Given the description of an element on the screen output the (x, y) to click on. 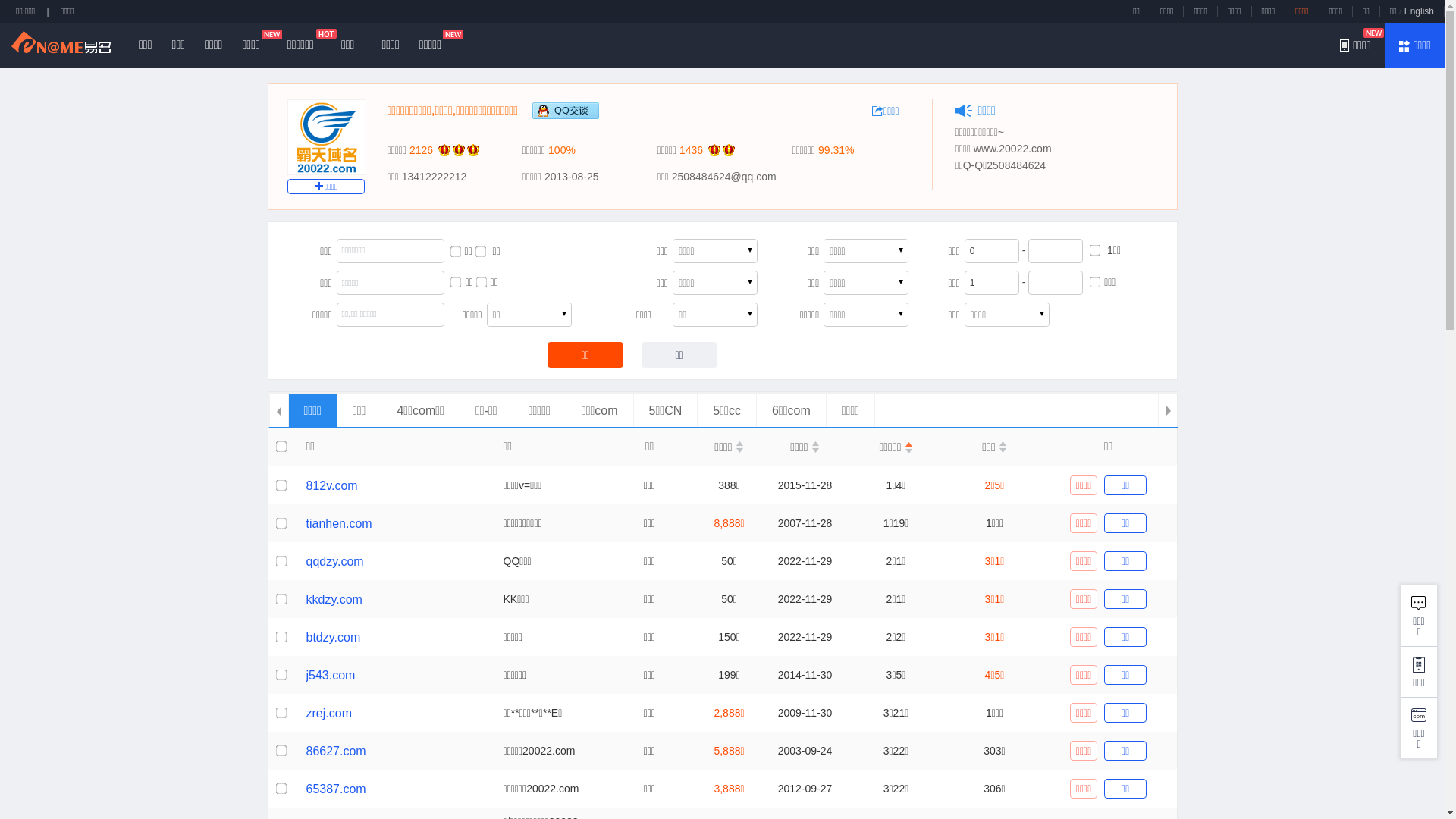
1436 Element type: text (690, 150)
qqdzy.com Element type: text (335, 561)
kkdzy.com Element type: text (334, 599)
zrej.com Element type: text (328, 713)
100% Element type: text (561, 150)
812v.com Element type: text (331, 485)
99.31% Element type: text (835, 150)
tianhen.com Element type: text (339, 523)
65387.com Element type: text (336, 789)
2126 Element type: text (421, 150)
j543.com Element type: text (330, 675)
English Element type: text (1419, 11)
btdzy.com Element type: text (333, 637)
86627.com Element type: text (336, 751)
